Given the description of an element on the screen output the (x, y) to click on. 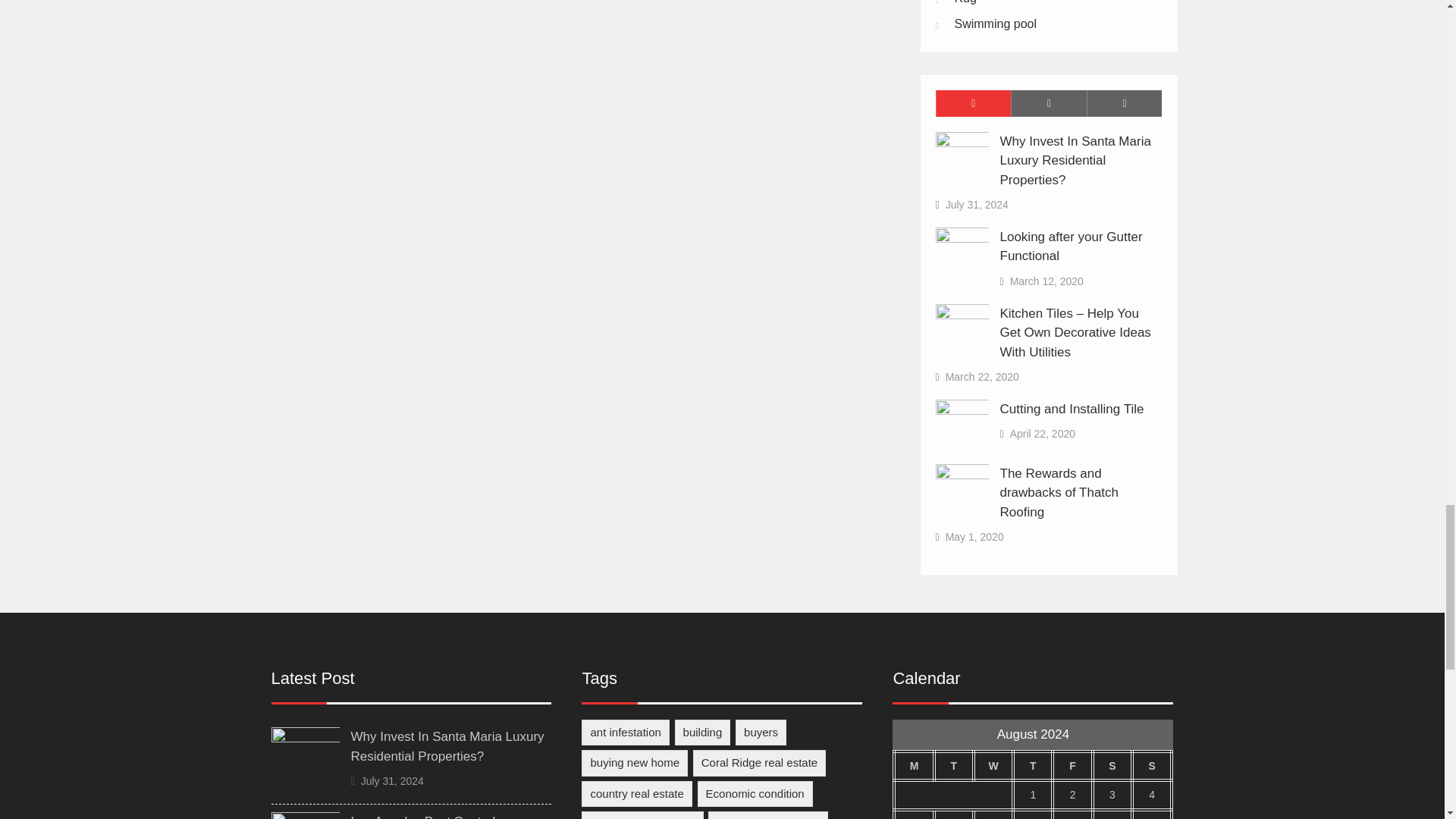
Thursday (1032, 766)
Saturday (1112, 766)
Wednesday (993, 766)
Friday (1072, 766)
Tuesday (954, 766)
Monday (913, 766)
Sunday (1152, 766)
